Given the description of an element on the screen output the (x, y) to click on. 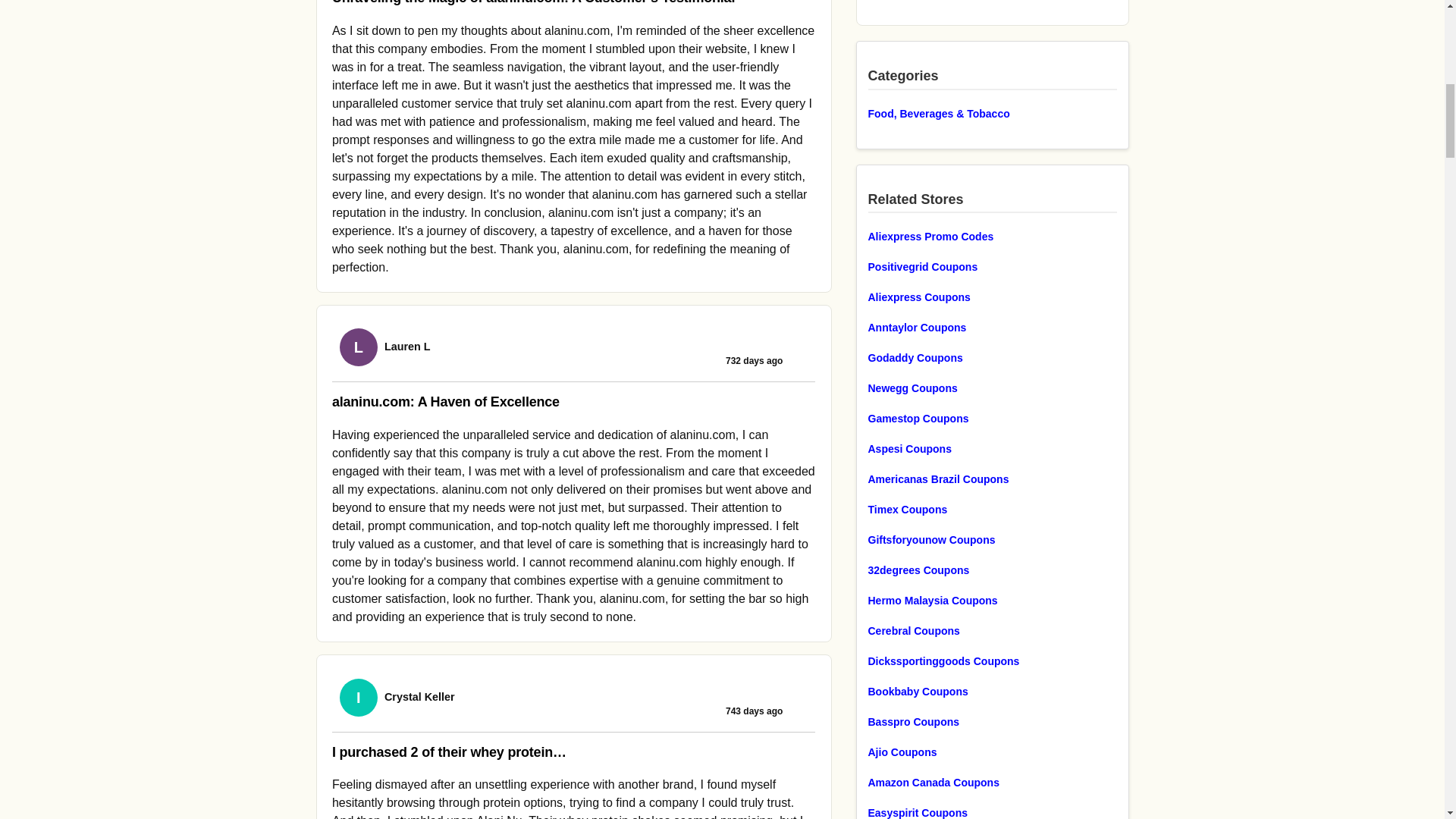
32degrees Coupons (991, 569)
Americanas Brazil Coupons (991, 478)
Newegg Coupons (991, 387)
Giftsforyounow Coupons (991, 539)
Timex Coupons (991, 508)
Positivegrid Coupons (991, 266)
Aspesi Coupons (991, 448)
Aliexpress Promo Codes (991, 236)
Godaddy Coupons (991, 357)
Gamestop Coupons (991, 418)
